Given the description of an element on the screen output the (x, y) to click on. 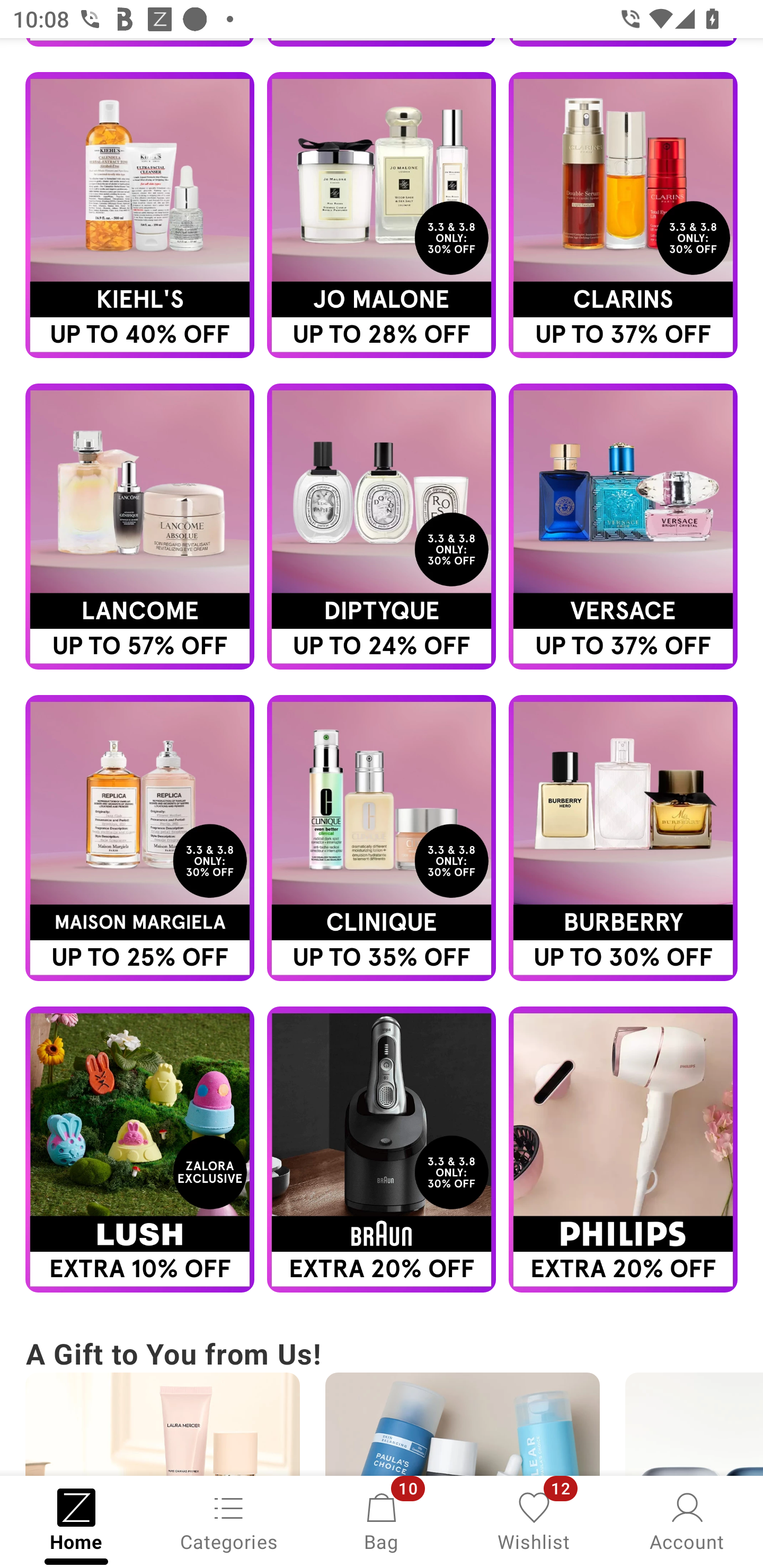
Campaign banner (139, 214)
Campaign banner (381, 214)
Campaign banner (622, 214)
Campaign banner (139, 526)
Campaign banner (381, 526)
Campaign banner (622, 526)
Campaign banner (139, 837)
Campaign banner (381, 837)
Campaign banner (622, 837)
Campaign banner (139, 1149)
Campaign banner (381, 1149)
Campaign banner (622, 1149)
Categories (228, 1519)
Bag, 10 new notifications Bag (381, 1519)
Wishlist, 12 new notifications Wishlist (533, 1519)
Account (686, 1519)
